Given the description of an element on the screen output the (x, y) to click on. 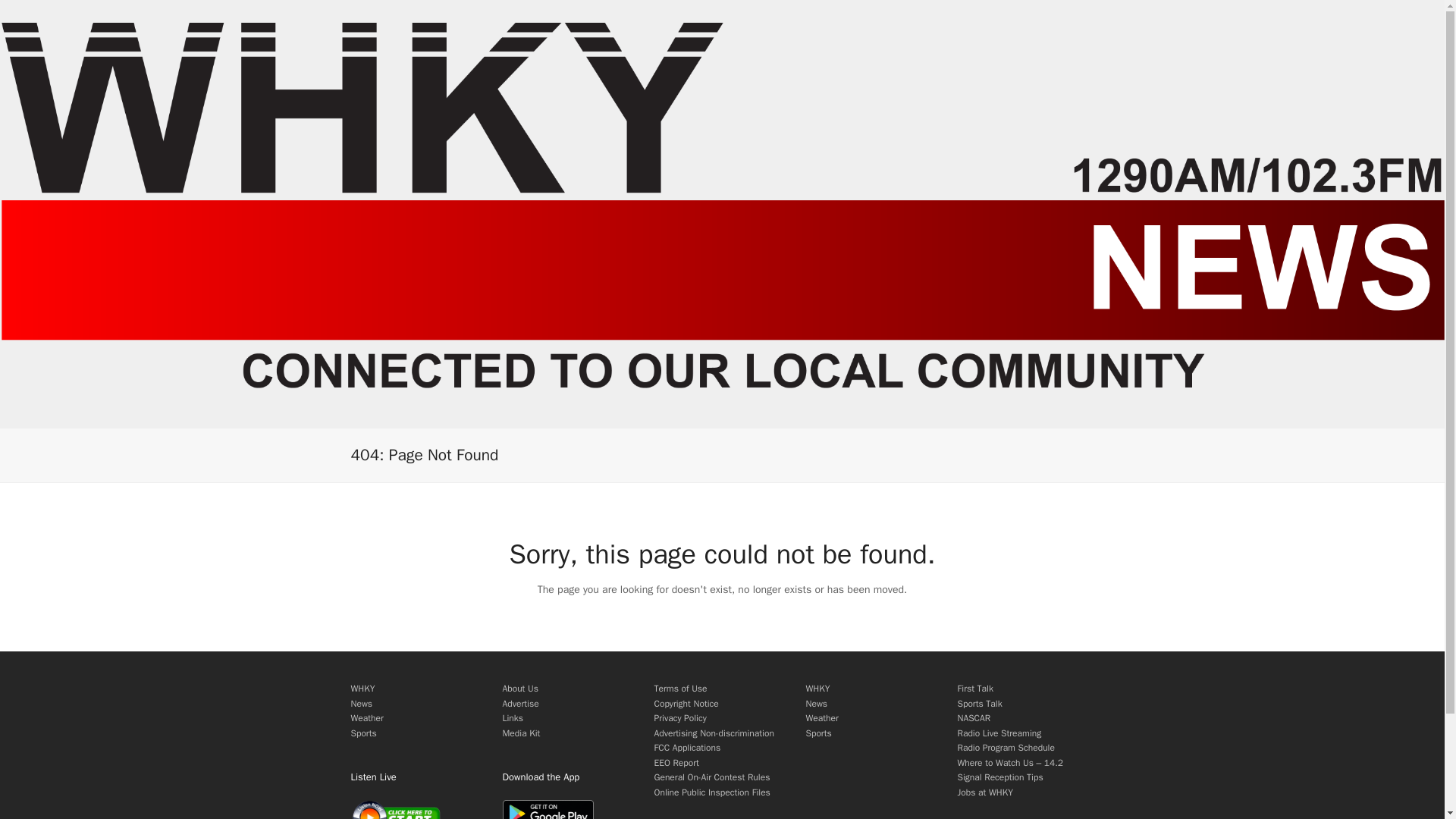
Terms of Use (679, 688)
About Us (519, 688)
NASCAR (973, 717)
First Talk (974, 688)
Media Kit (521, 733)
Radio Program Schedule (1005, 747)
Signal Reception Tips (999, 776)
Advertise (520, 703)
EEO Report (675, 762)
News (816, 703)
